Given the description of an element on the screen output the (x, y) to click on. 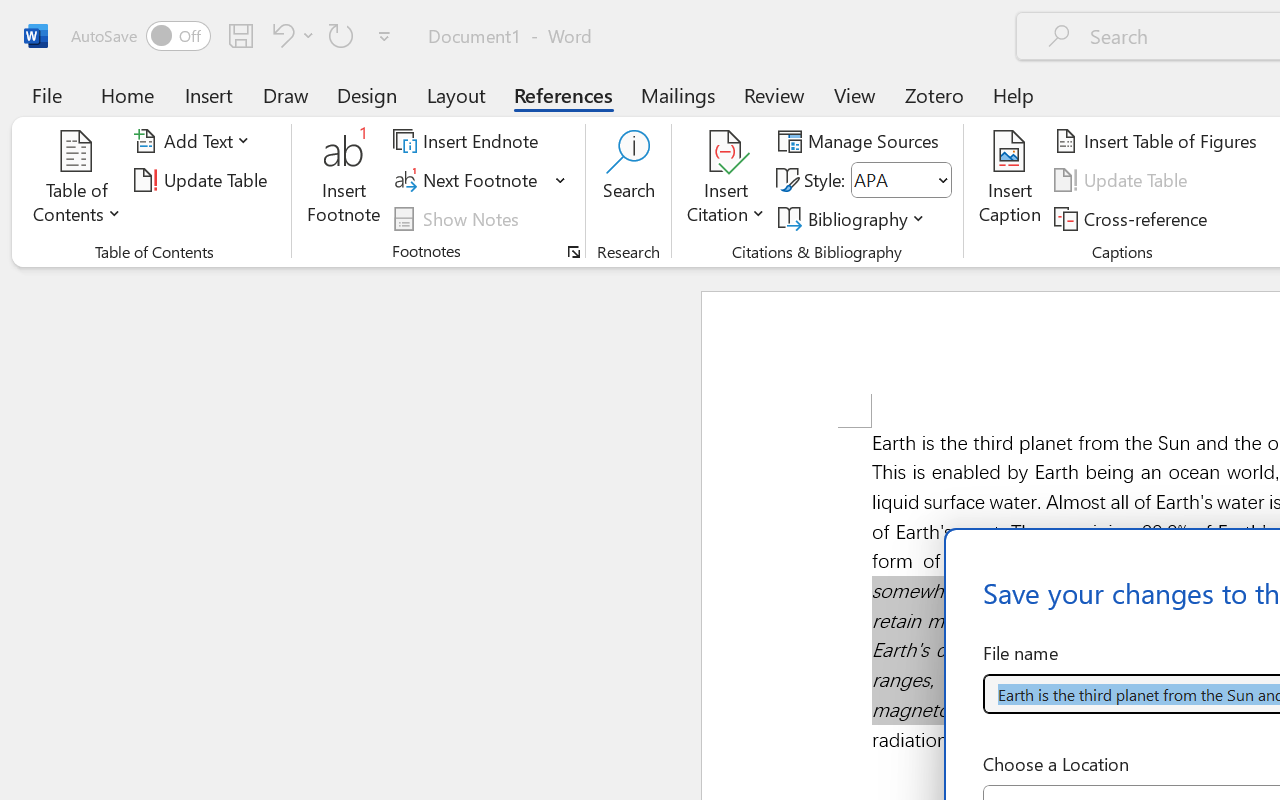
Show Notes (459, 218)
Style (901, 179)
Insert Table of Figures... (1158, 141)
Insert Endnote (468, 141)
Insert Footnote (344, 179)
Update Table... (204, 179)
Insert Citation (726, 179)
Add Text (195, 141)
